Given the description of an element on the screen output the (x, y) to click on. 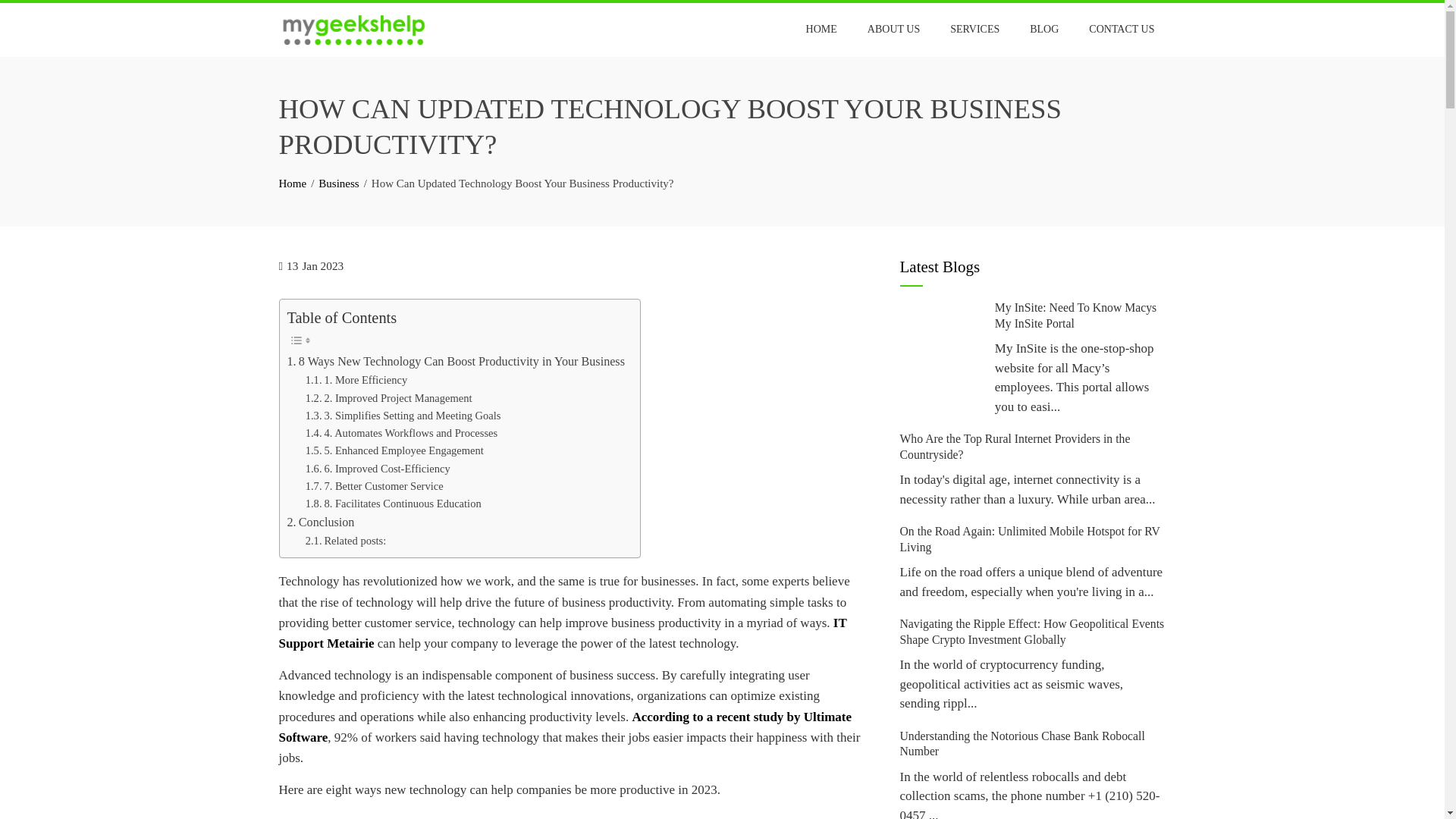
HOME (821, 29)
3. Simplifies Setting and Meeting Goals (402, 416)
2. Improved Project Management (388, 398)
ABOUT US (893, 29)
5. Enhanced Employee Engagement (394, 450)
IT Support Metairie (563, 632)
6. Improved Cost-Efficiency (377, 468)
Conclusion (319, 522)
3. Simplifies Setting and Meeting Goals (402, 416)
Business (338, 183)
Home (293, 183)
2. Improved Project Management (388, 398)
8. Facilitates Continuous Education (393, 503)
7. Better Customer Service (374, 486)
1. More Efficiency (356, 380)
